Given the description of an element on the screen output the (x, y) to click on. 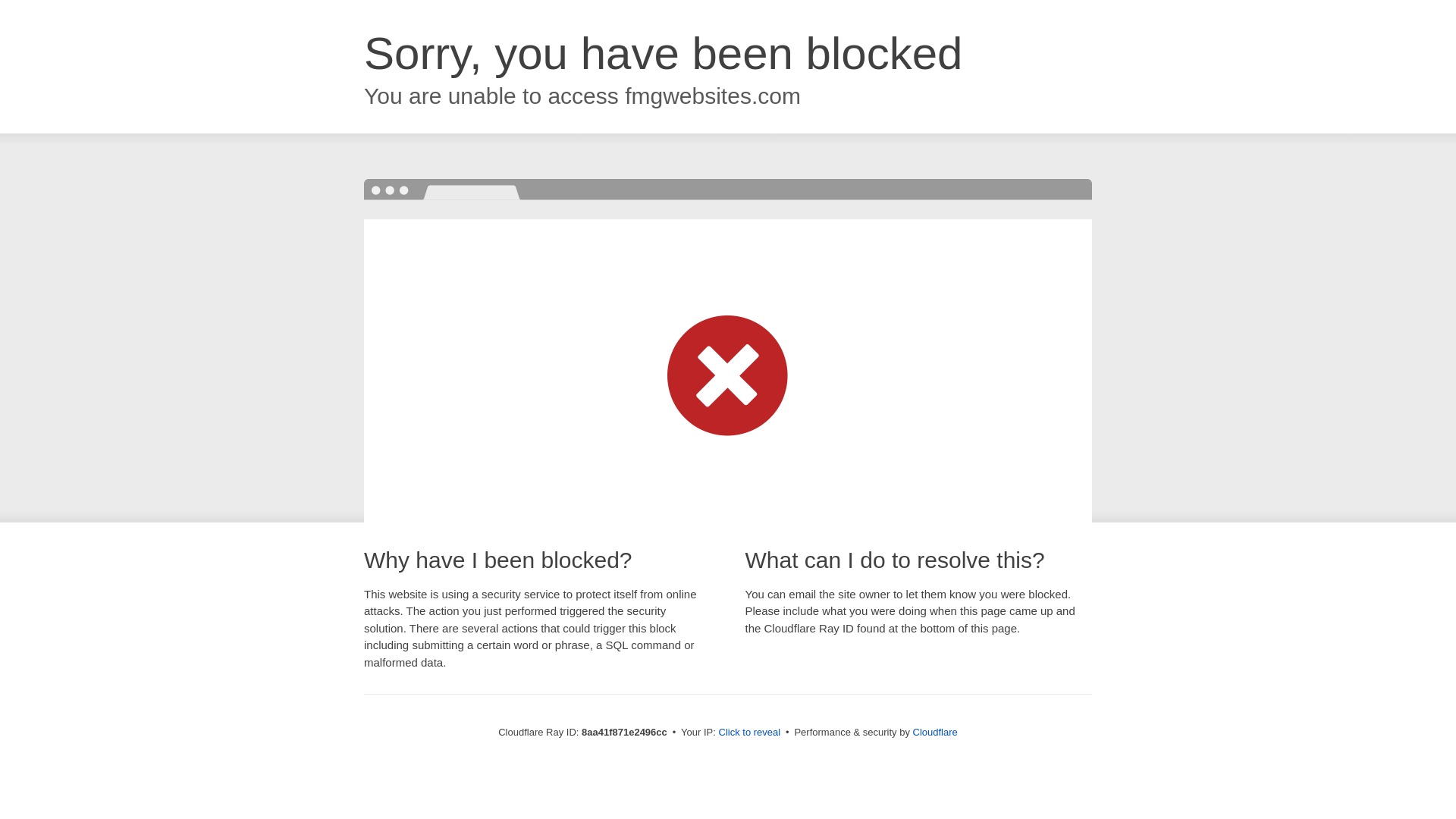
Cloudflare (935, 731)
Click to reveal (749, 732)
